Given the description of an element on the screen output the (x, y) to click on. 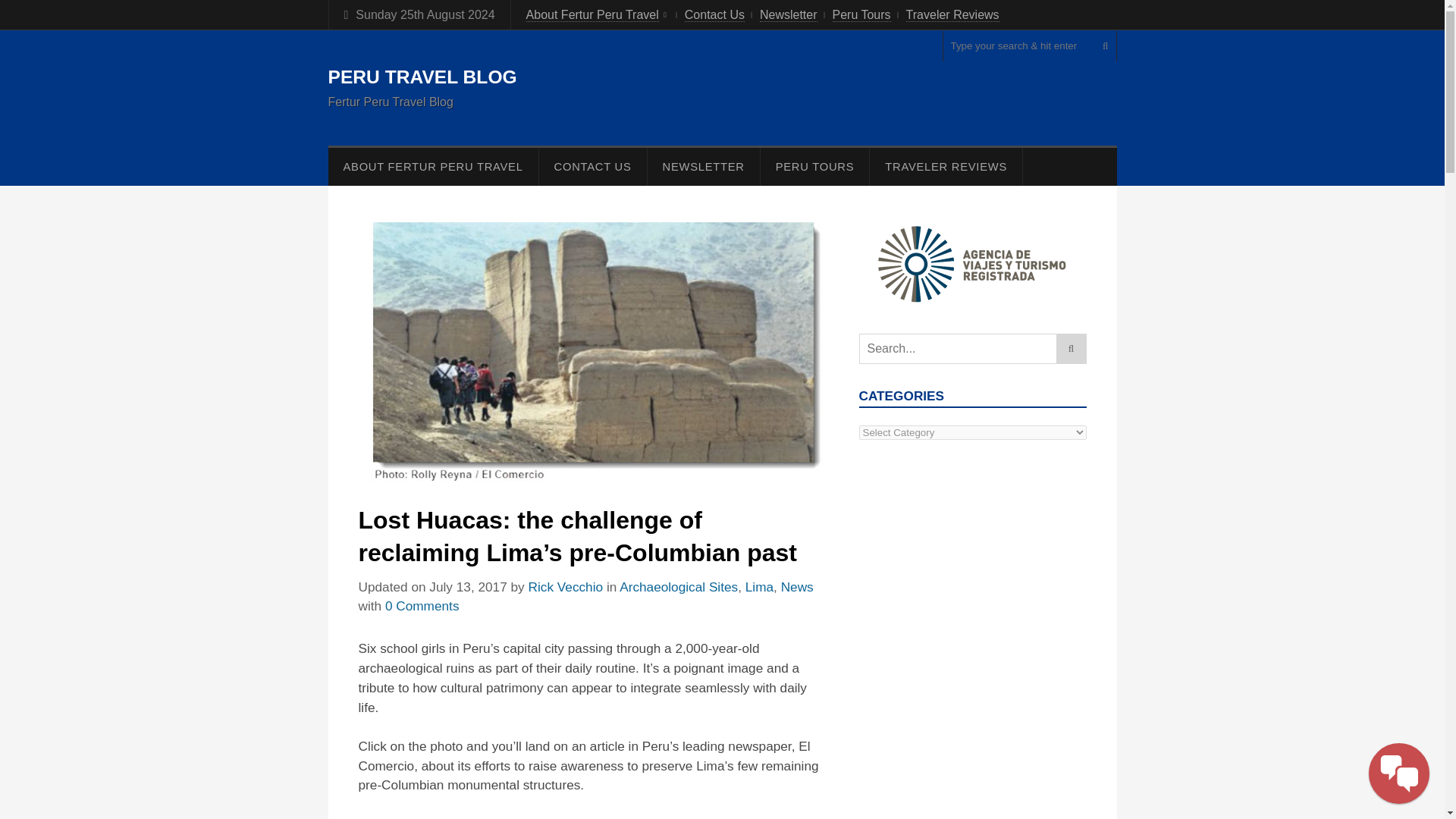
PERU TOURS (814, 166)
Newsletter (788, 15)
0 Comments (422, 605)
Peru Travel Blog (421, 76)
Archaeological Sites (679, 586)
News (796, 586)
About Fertur Peru Travel (592, 15)
Traveler Reviews (951, 15)
PERU TRAVEL BLOG (421, 76)
CONTACT US (592, 166)
